Given the description of an element on the screen output the (x, y) to click on. 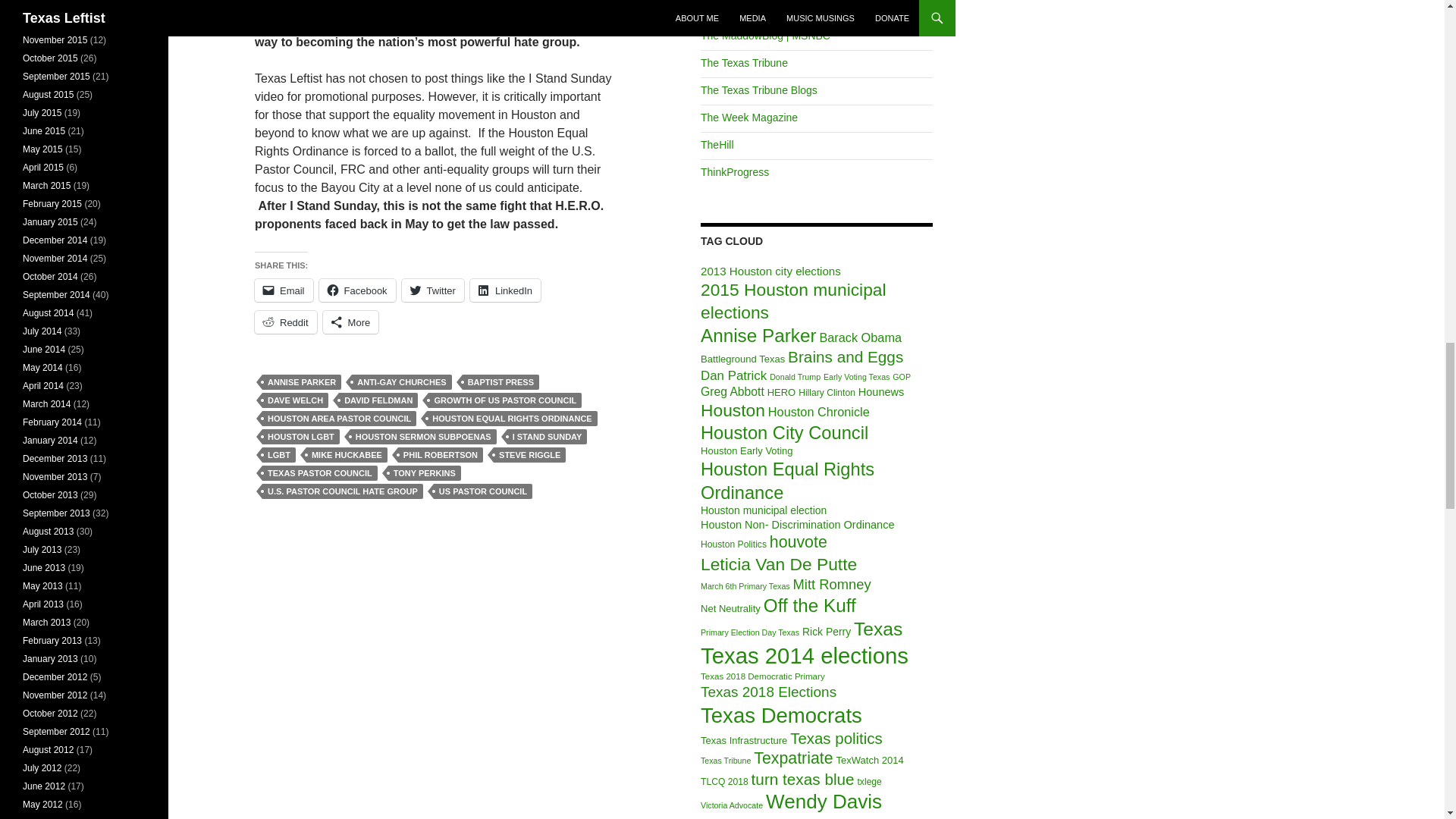
BAPTIST PRESS (500, 381)
More (350, 322)
Click to email a link to a friend (283, 290)
HOUSTON AREA PASTOR COUNCIL (339, 418)
Reddit (285, 322)
DAVE WELCH (295, 400)
Email (283, 290)
Click to share on Facebook (357, 290)
ANNISE PARKER (301, 381)
LinkedIn (505, 290)
Click to share on LinkedIn (505, 290)
HOUSTON SERMON SUBPOENAS (423, 436)
Click to share on Reddit (285, 322)
ANTI-GAY CHURCHES (401, 381)
Facebook (357, 290)
